Given the description of an element on the screen output the (x, y) to click on. 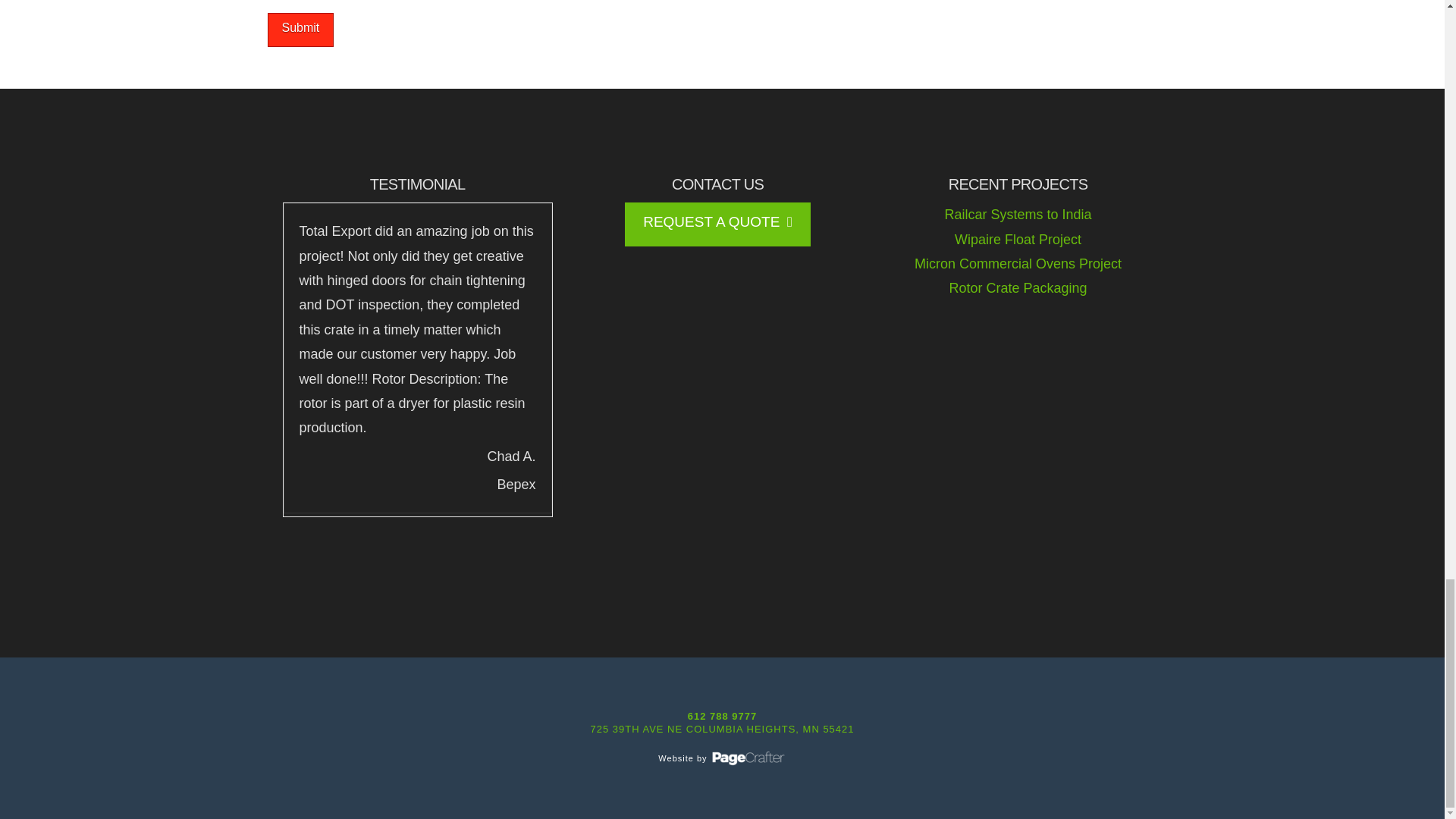
Submit (299, 29)
Submit (299, 29)
